Given the description of an element on the screen output the (x, y) to click on. 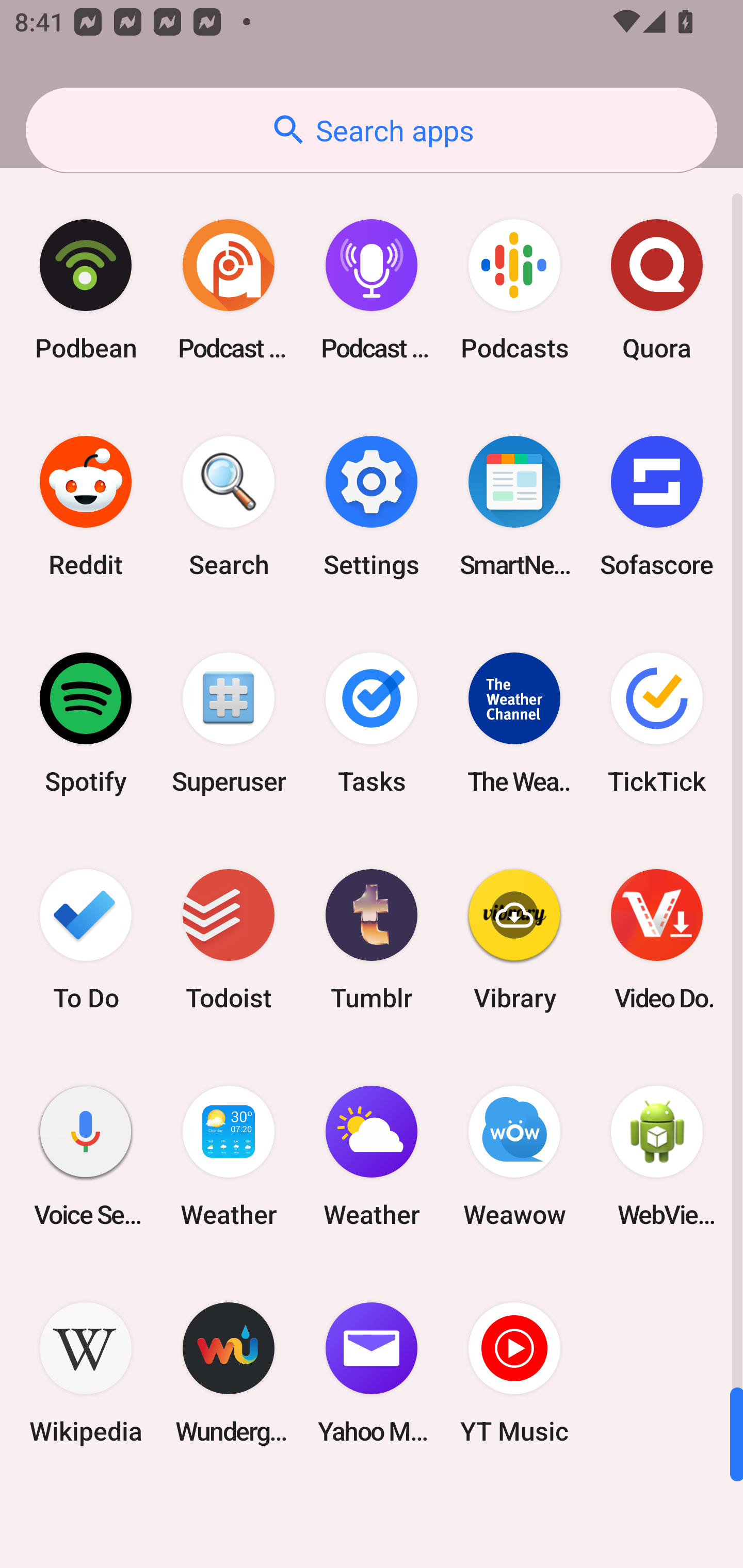
  Search apps (371, 130)
Podbean (85, 289)
Podcast Addict (228, 289)
Podcast Player (371, 289)
Podcasts (514, 289)
Quora (656, 289)
Reddit (85, 506)
Search (228, 506)
Settings (371, 506)
SmartNews (514, 506)
Sofascore (656, 506)
Spotify (85, 722)
Superuser (228, 722)
Tasks (371, 722)
The Weather Channel (514, 722)
TickTick (656, 722)
To Do (85, 939)
Todoist (228, 939)
Tumblr (371, 939)
Vibrary (514, 939)
Video Downloader & Ace Player (656, 939)
Voice Search (85, 1156)
Weather (228, 1156)
Weather (371, 1156)
Weawow (514, 1156)
WebView Browser Tester (656, 1156)
Wikipedia (85, 1373)
Wunderground (228, 1373)
Yahoo Mail (371, 1373)
YT Music (514, 1373)
